Given the description of an element on the screen output the (x, y) to click on. 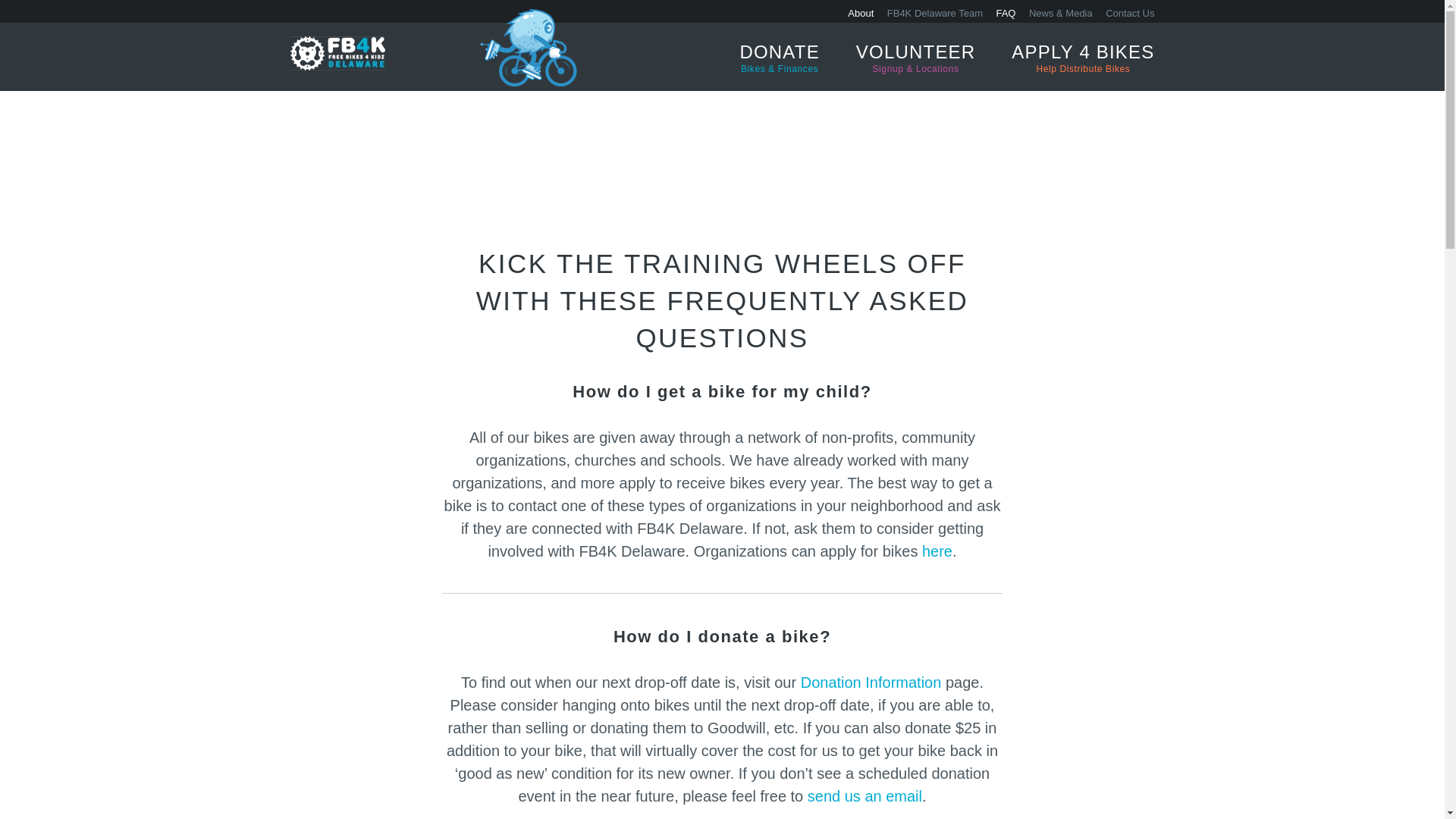
send us an email (864, 795)
About (1082, 57)
Donation Information (860, 12)
here (871, 682)
here (936, 550)
FB4K Delaware Team (936, 550)
FAQ (934, 12)
Contact Us (1004, 12)
